Given the description of an element on the screen output the (x, y) to click on. 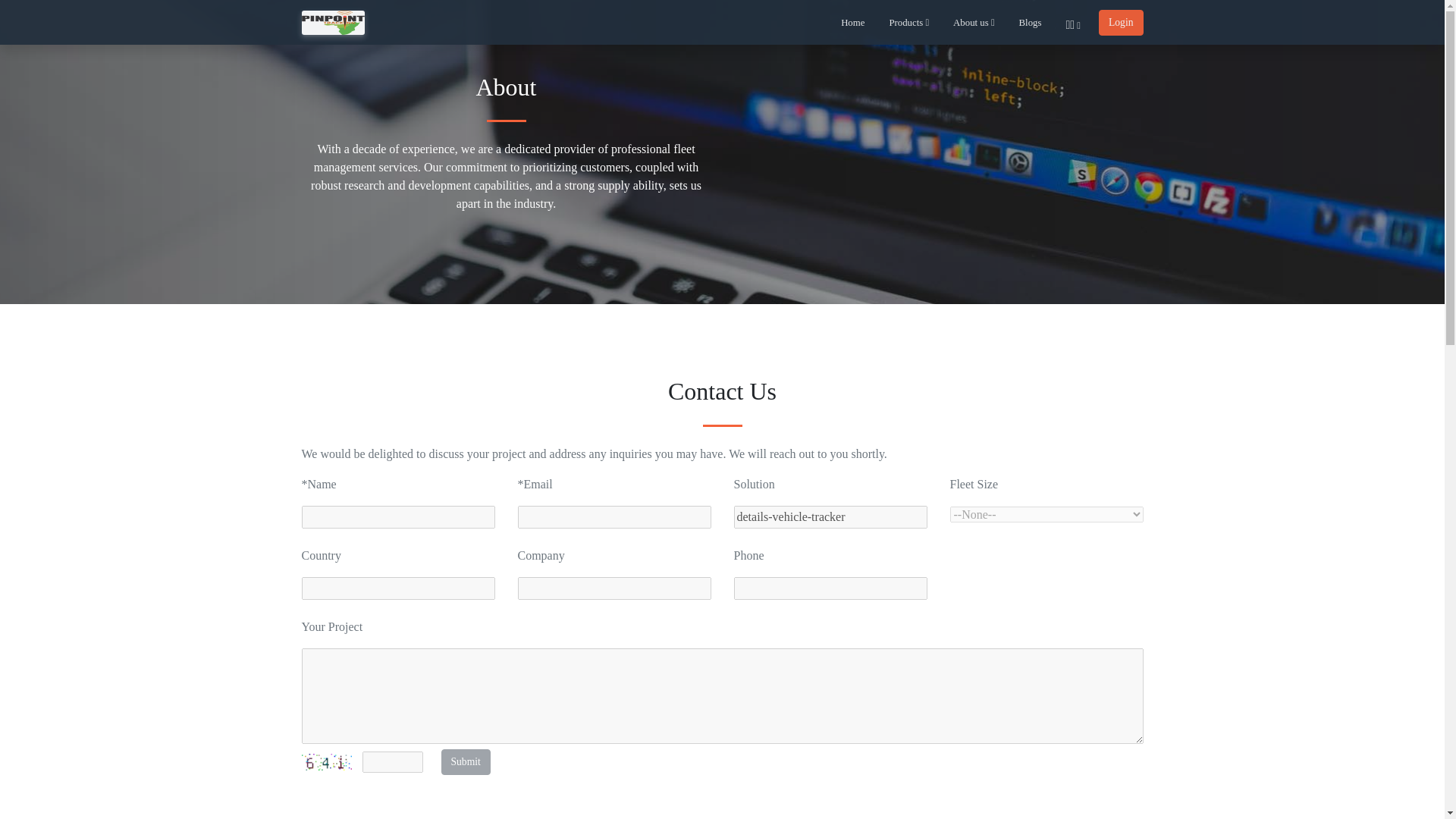
About us  (973, 19)
About (506, 86)
Products  (908, 19)
Pinpoint Tracking System (333, 22)
Blogs (1030, 19)
Home (852, 19)
details-vehicle-tracker (830, 517)
